Given the description of an element on the screen output the (x, y) to click on. 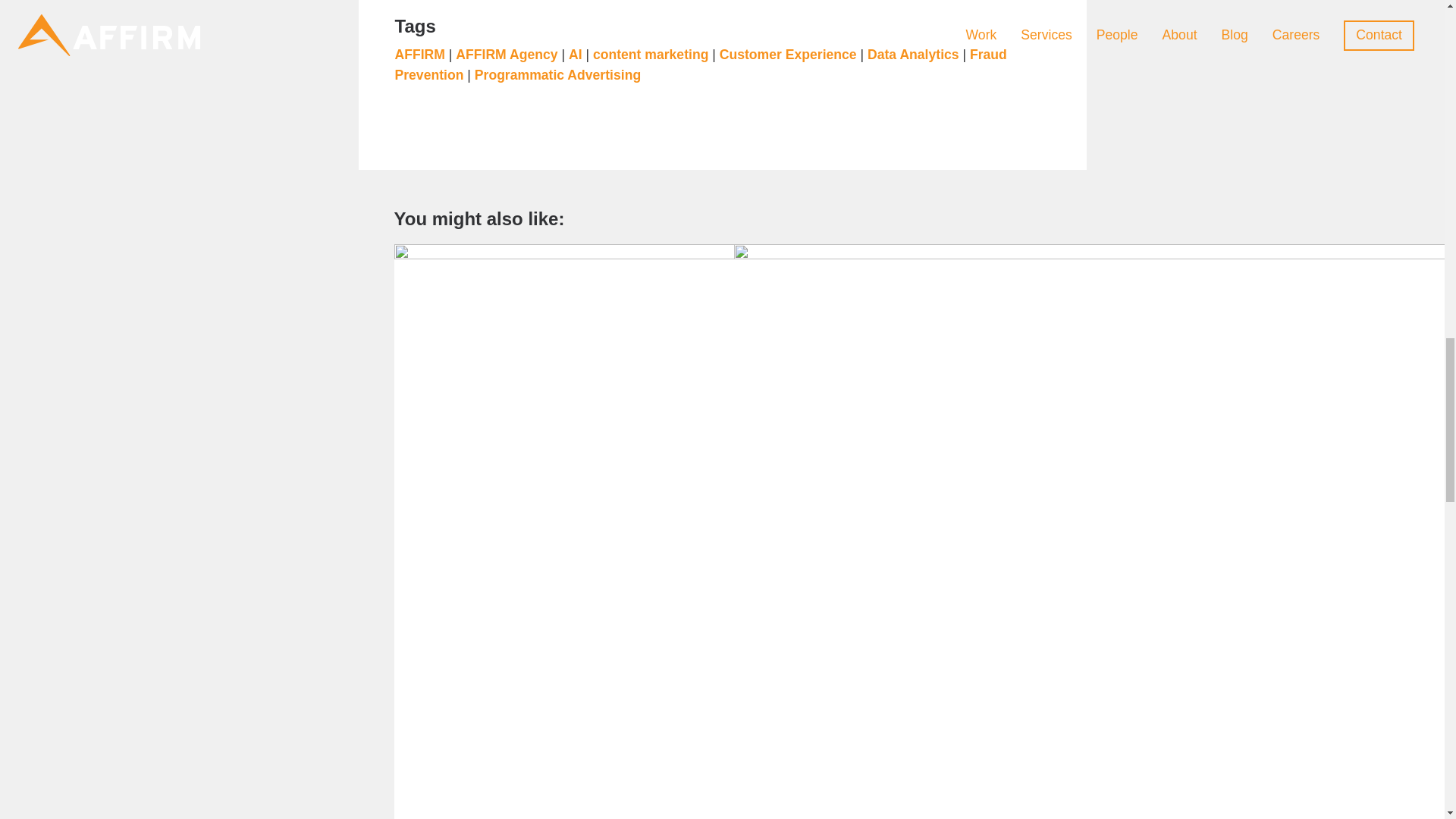
AFFIRM Agency (506, 54)
Fraud Prevention (700, 63)
Data Analytics (913, 54)
content marketing (650, 54)
AFFIRM (419, 54)
Programmatic Advertising (557, 74)
AI (575, 54)
Customer Experience (788, 54)
